Given the description of an element on the screen output the (x, y) to click on. 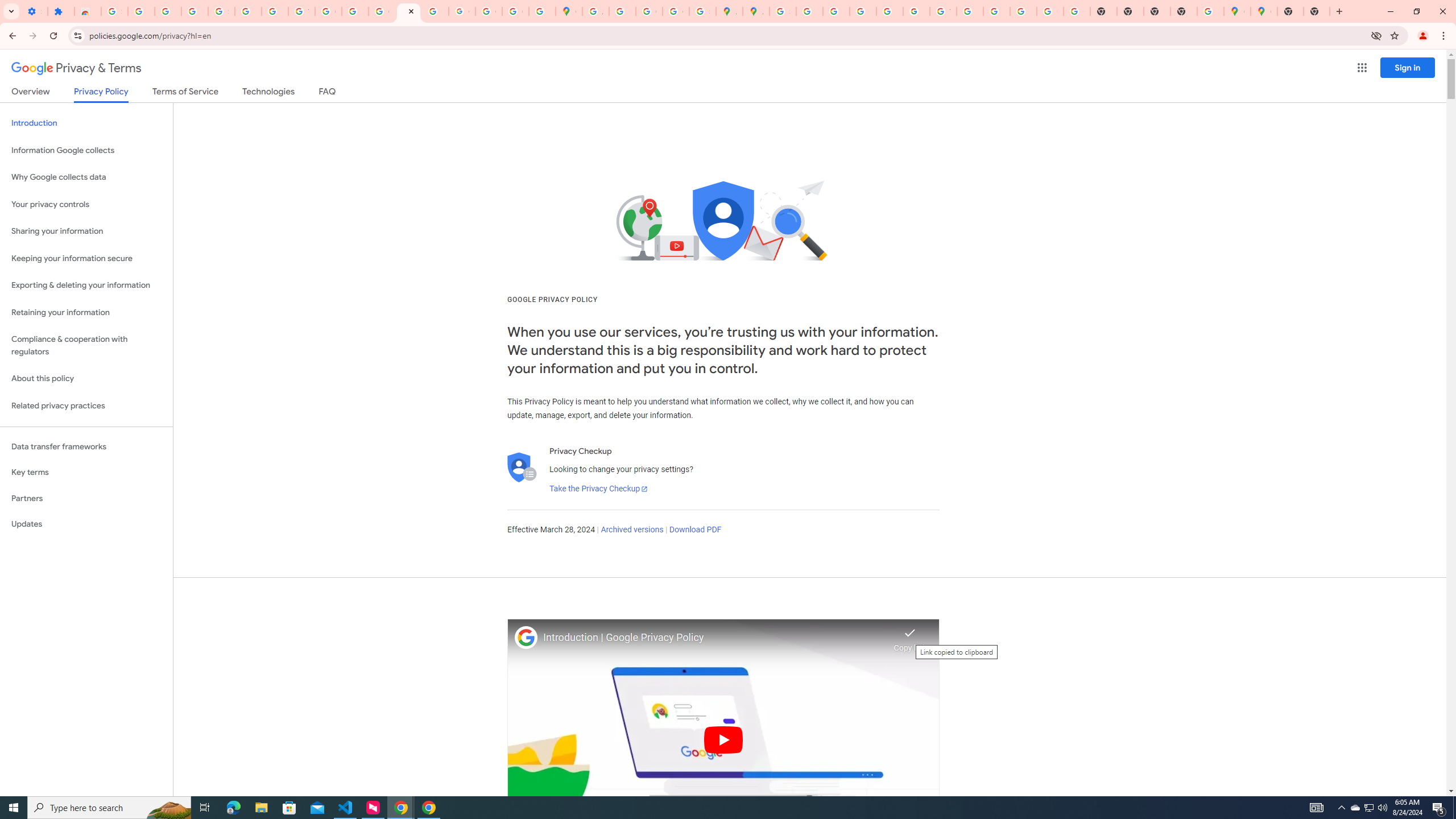
Compliance & cooperation with regulators (86, 345)
Your privacy controls (86, 204)
Key terms (86, 472)
Google Maps (569, 11)
New Tab (1316, 11)
Updates (86, 524)
Link copied to clipboard (909, 636)
Keeping your information secure (86, 258)
Privacy Help Center - Policies Help (836, 11)
Extensions (61, 11)
